Given the description of an element on the screen output the (x, y) to click on. 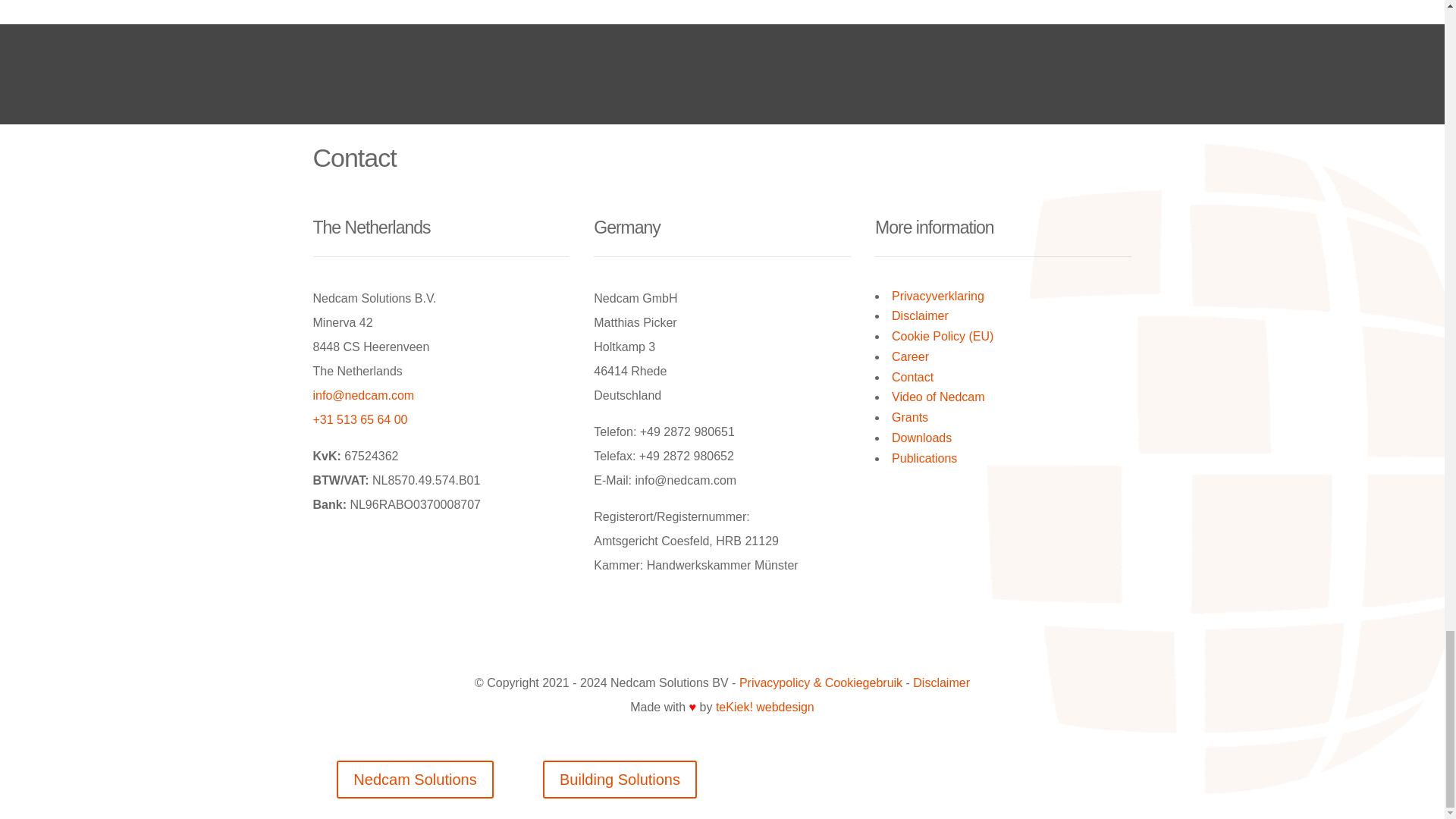
Follow on Instagram (706, 630)
Follow on LinkedIn (675, 630)
